Given the description of an element on the screen output the (x, y) to click on. 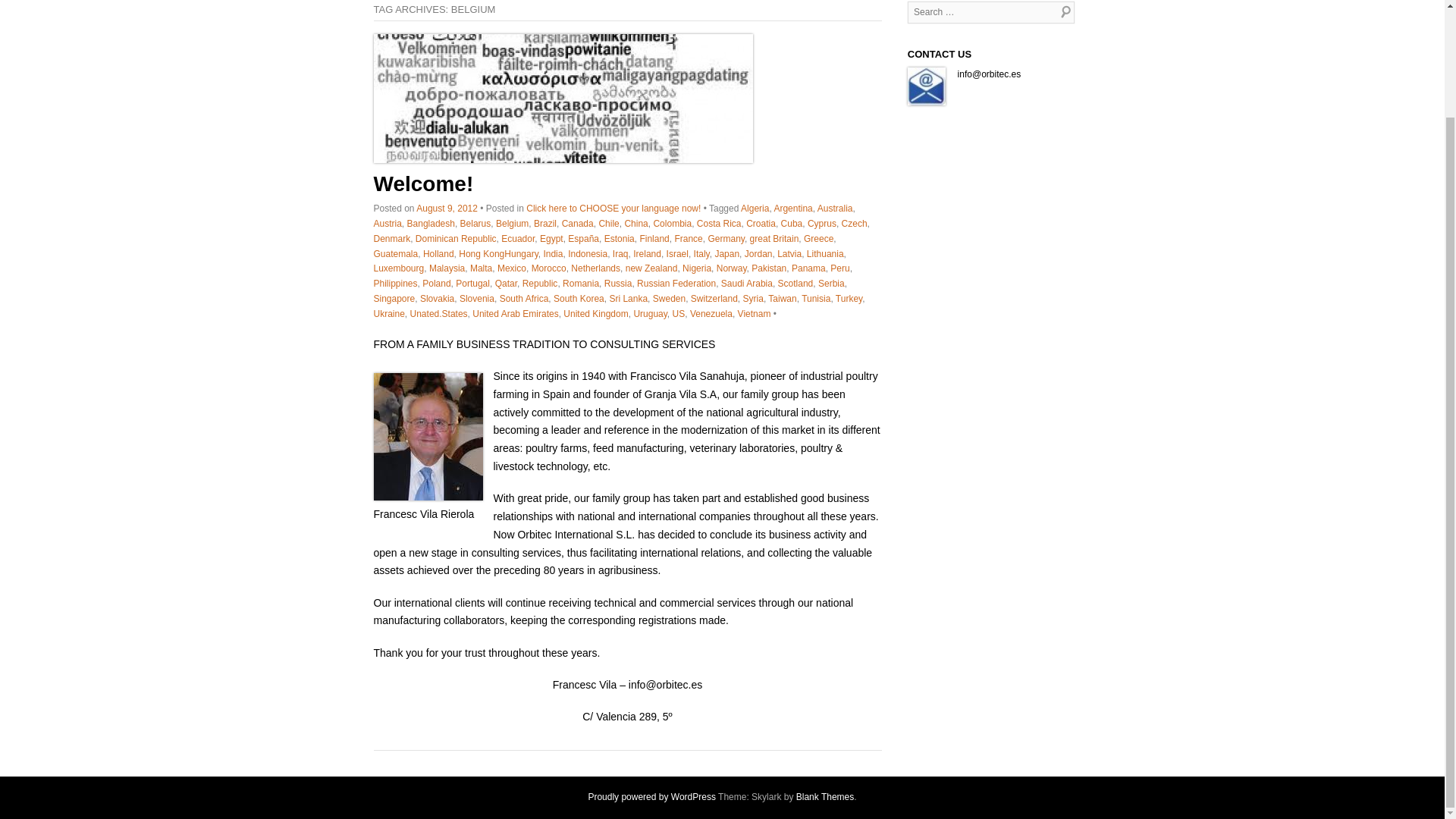
5:46 pm (446, 208)
Permalink to Welcome! (562, 159)
Australia (834, 208)
Holland (438, 253)
Bangladesh (430, 223)
Costa Rica (719, 223)
Germany (725, 238)
Canada (578, 223)
Dominican Republic (455, 238)
Greece (817, 238)
Permalink to Welcome! (422, 183)
Welcome! (562, 98)
Cyprus (821, 223)
Algeria (754, 208)
Estonia (619, 238)
